Given the description of an element on the screen output the (x, y) to click on. 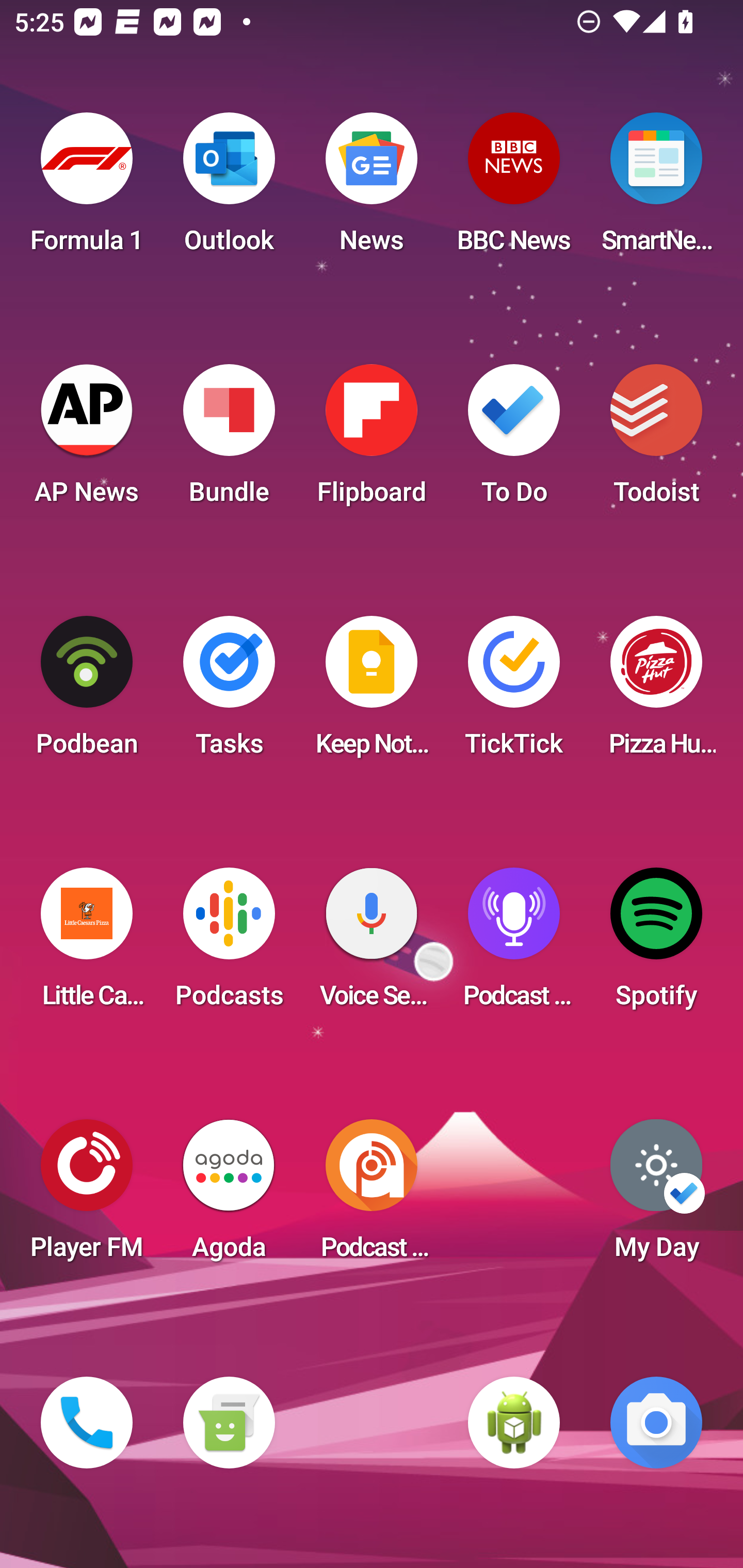
Formula 1 (86, 188)
Outlook (228, 188)
News (371, 188)
BBC News (513, 188)
SmartNews (656, 188)
AP News (86, 440)
Bundle (228, 440)
Flipboard (371, 440)
To Do (513, 440)
Todoist (656, 440)
Podbean (86, 692)
Tasks (228, 692)
Keep Notes (371, 692)
TickTick (513, 692)
Pizza Hut HK & Macau (656, 692)
Little Caesars Pizza (86, 943)
Podcasts (228, 943)
Voice Search (371, 943)
Podcast Player (513, 943)
Spotify (656, 943)
Player FM (86, 1195)
Agoda (228, 1195)
Podcast Addict (371, 1195)
My Day (656, 1195)
Phone (86, 1422)
Messaging (228, 1422)
WebView Browser Tester (513, 1422)
Camera (656, 1422)
